Given the description of an element on the screen output the (x, y) to click on. 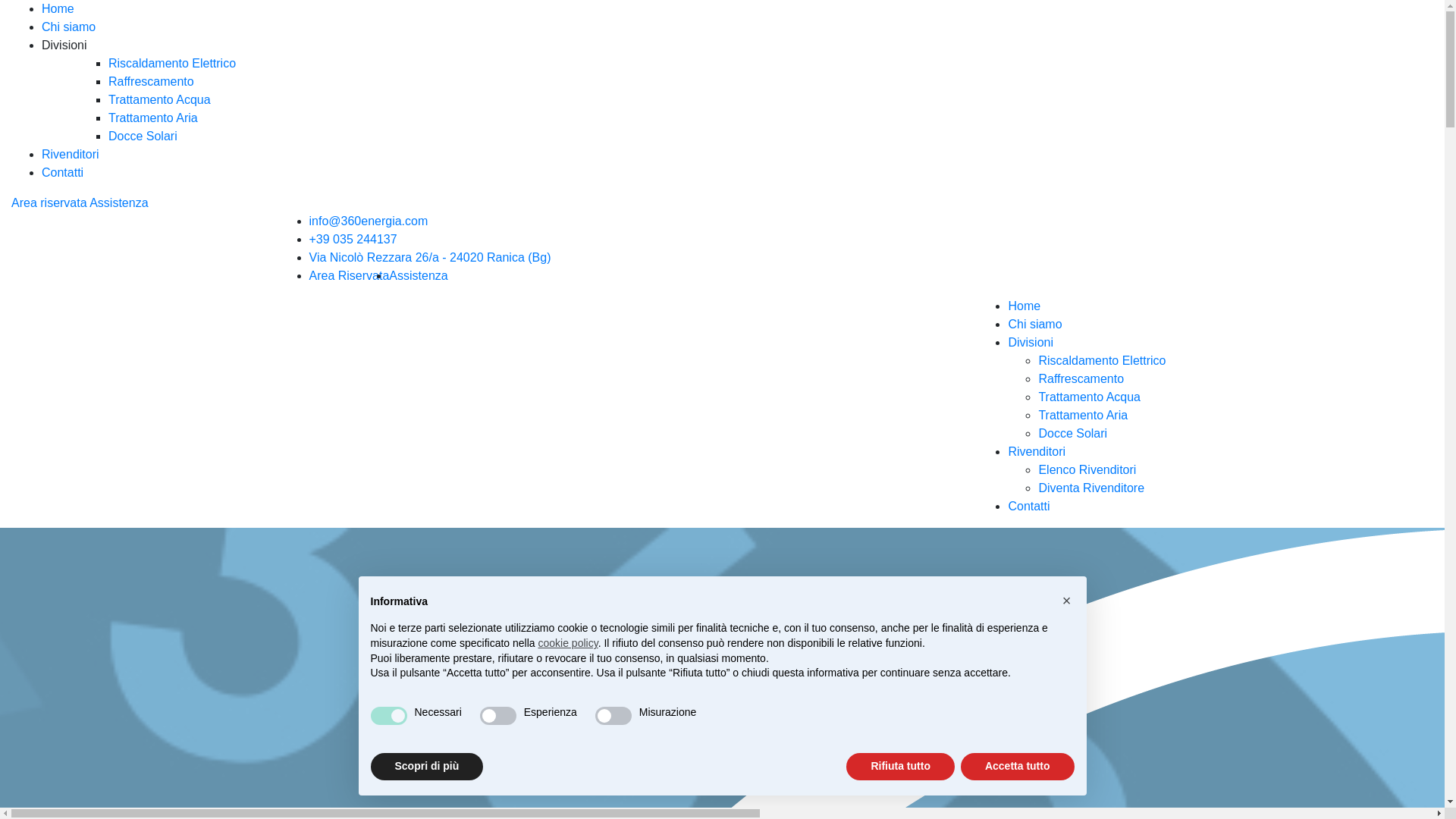
Divisioni Element type: text (1030, 341)
Contatti Element type: text (62, 172)
Home Element type: text (57, 8)
Chi siamo Element type: text (1034, 323)
Riscaldamento Elettrico Element type: text (1101, 360)
Docce Solari Element type: text (142, 135)
Assistenza Element type: text (118, 202)
Riscaldamento Elettrico Element type: text (171, 62)
info@360energia.com Element type: text (368, 220)
Trattamento Acqua Element type: text (159, 99)
Trattamento Aria Element type: text (1082, 414)
Rivenditori Element type: text (70, 153)
Raffrescamento Element type: text (1080, 378)
Contatti Element type: text (1028, 505)
Raffrescamento Element type: text (151, 81)
Trattamento Aria Element type: text (152, 117)
Area Riservata Element type: text (349, 275)
cookie policy Element type: text (568, 643)
Accetta tutto Element type: text (1017, 766)
Rivenditori Element type: text (1036, 451)
Home Element type: text (1023, 305)
Chi siamo Element type: text (68, 26)
Docce Solari Element type: text (1072, 432)
Elenco Rivenditori Element type: text (1086, 469)
+39 035 244137 Element type: text (353, 238)
Trattamento Acqua Element type: text (1089, 396)
Area riservata Element type: text (49, 202)
Assistenza Element type: text (418, 275)
Rifiuta tutto Element type: text (900, 766)
Diventa Rivenditore Element type: text (1091, 487)
